Given the description of an element on the screen output the (x, y) to click on. 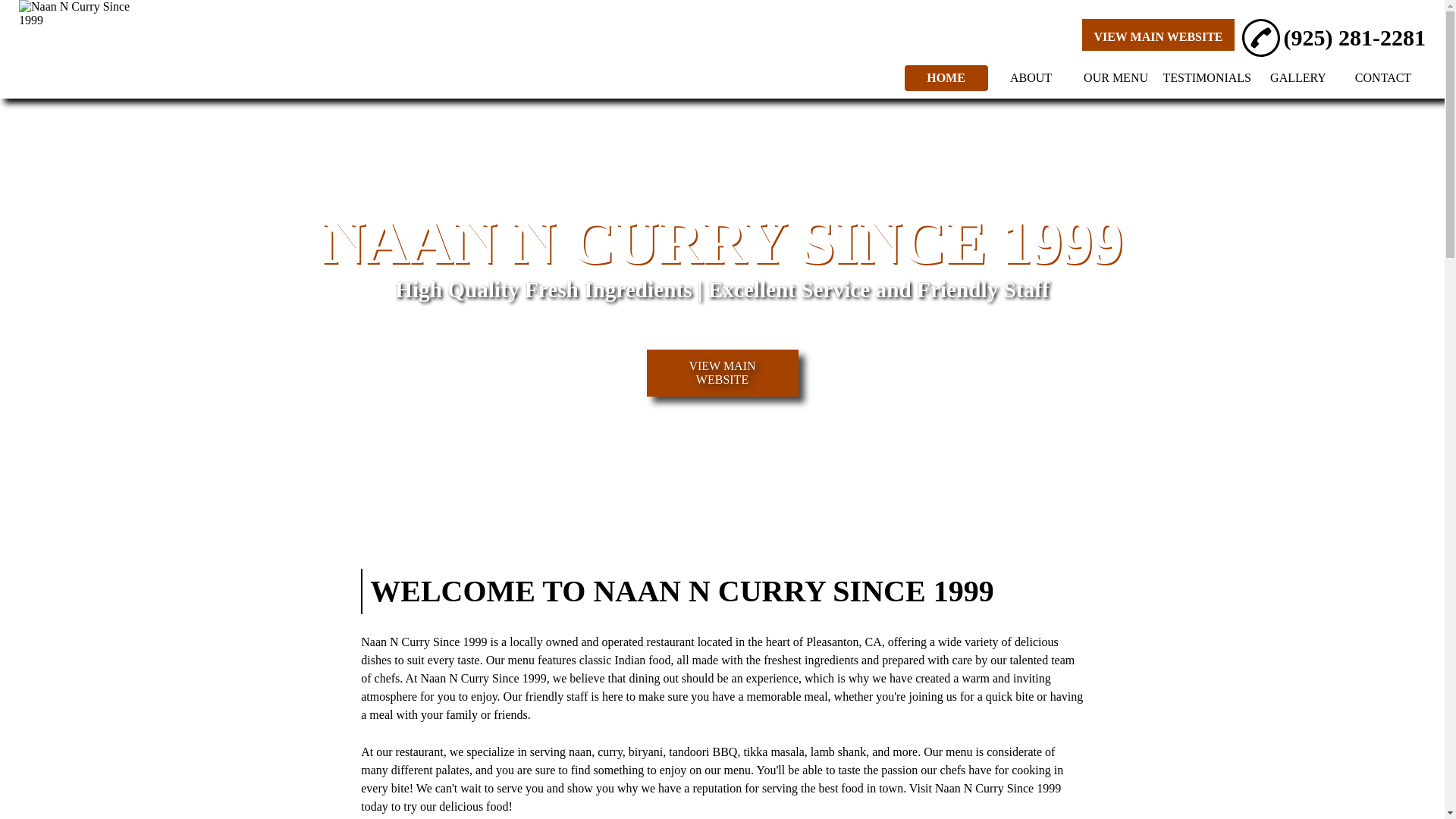
lamb shank (838, 751)
Indian food (641, 659)
naan (580, 751)
CONTACT (1382, 77)
GALLERY (1297, 77)
Pleasanton, CA (844, 641)
biryani (645, 751)
tandoori BBQ (702, 751)
VIEW MAIN WEBSITE (721, 372)
curry (609, 751)
